Given the description of an element on the screen output the (x, y) to click on. 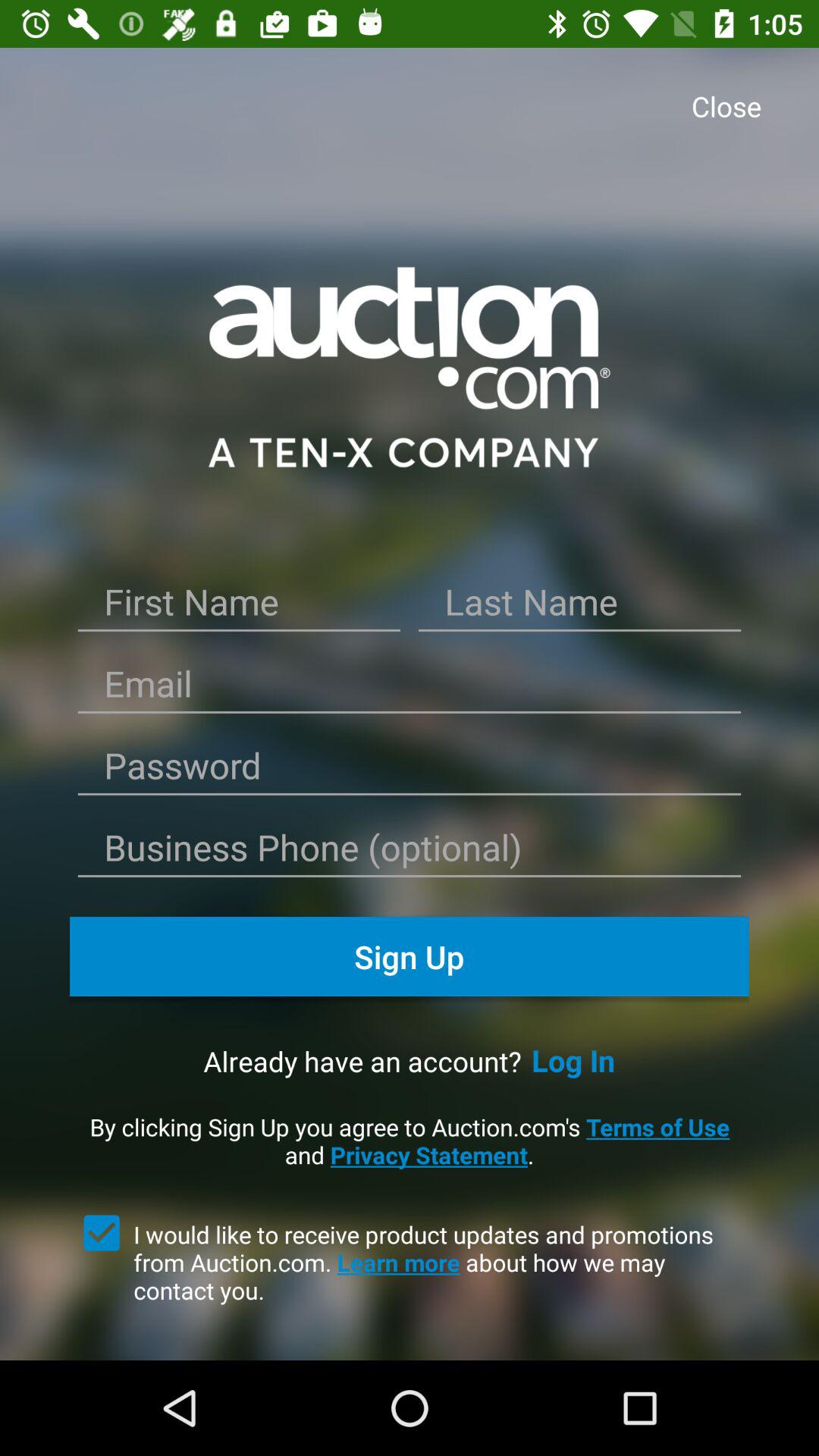
select the icon at the bottom left corner (101, 1232)
